Given the description of an element on the screen output the (x, y) to click on. 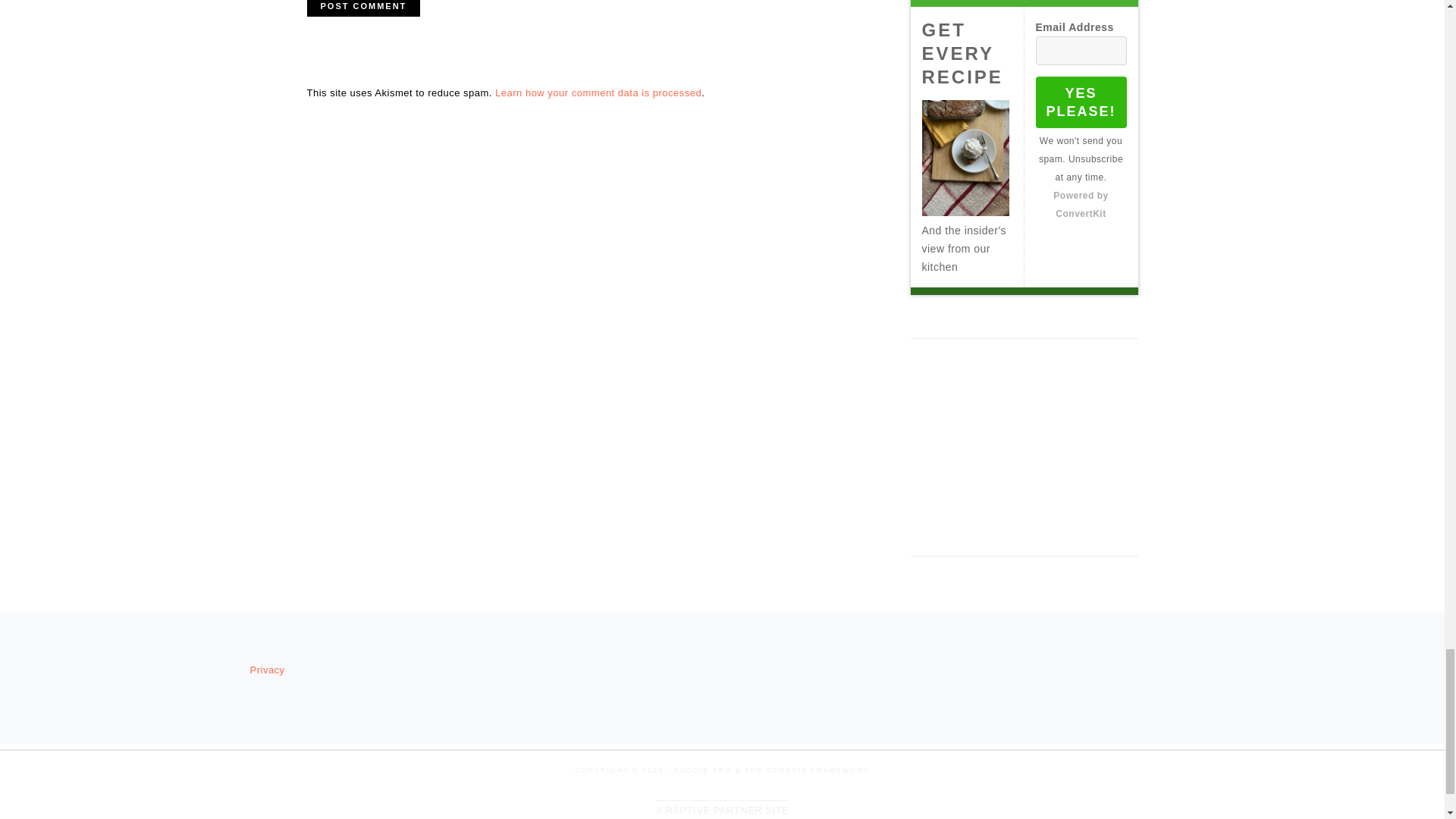
Post Comment (362, 8)
